Given the description of an element on the screen output the (x, y) to click on. 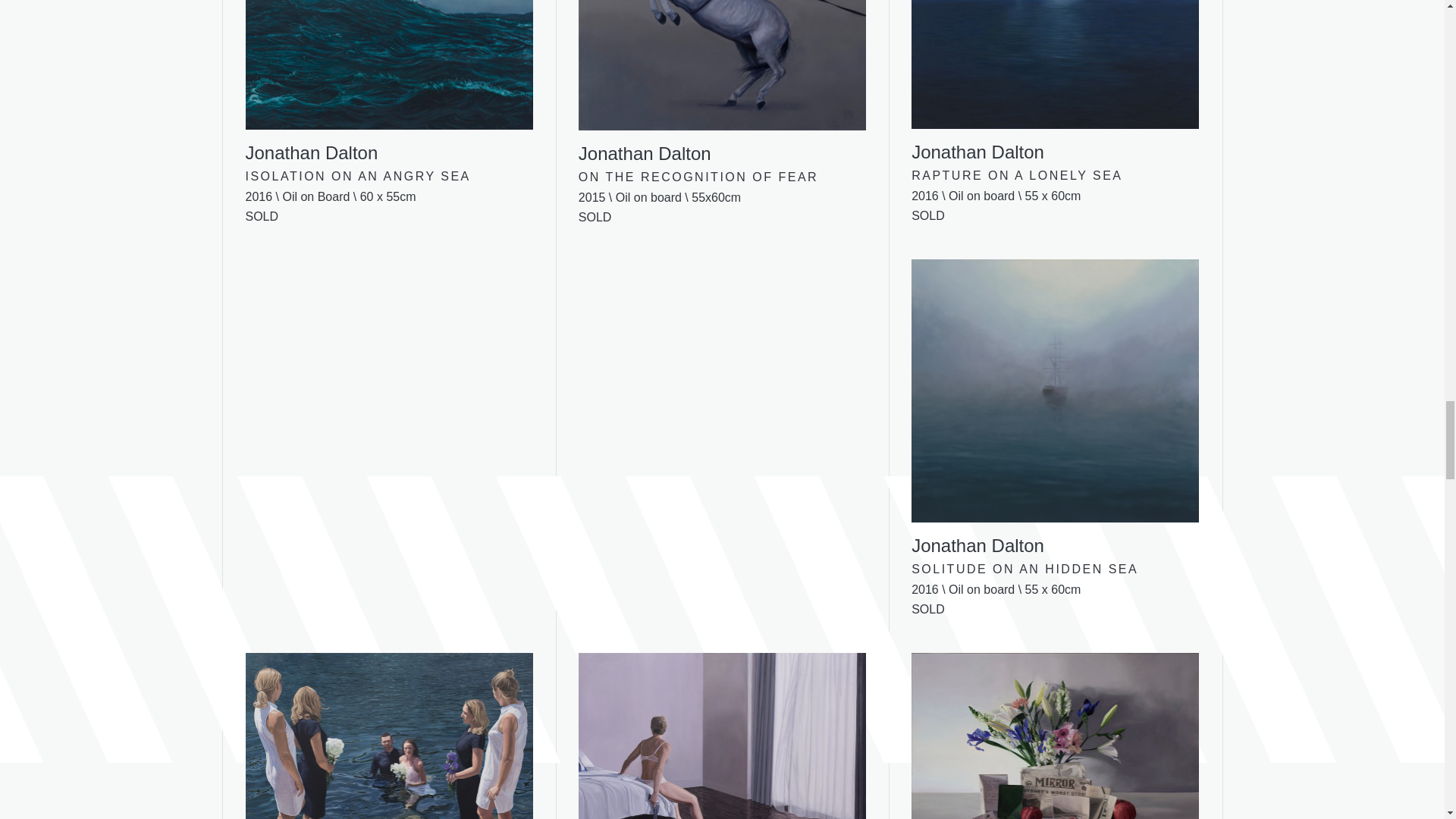
Jonathan Dalton (1054, 735)
Jonathan Dalton (722, 735)
Jonathan Dalton (1054, 408)
Jonathan Dalton (389, 82)
Jonathan Dalton (722, 83)
Jonathan Dalton (1054, 82)
Jonathan Dalton (389, 735)
